Given the description of an element on the screen output the (x, y) to click on. 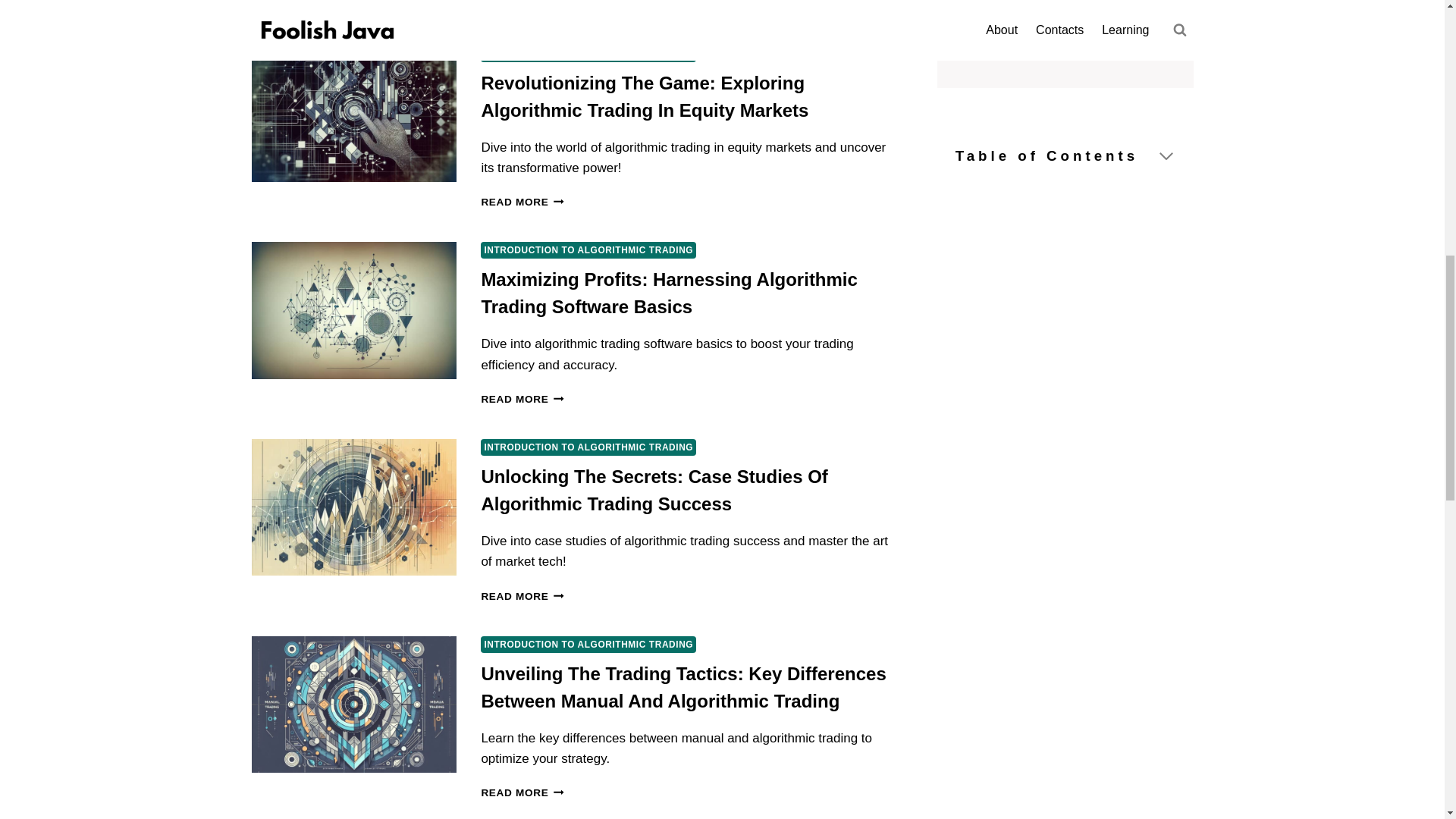
INTRODUCTION TO ALGORITHMIC TRADING (587, 53)
INTRODUCTION TO ALGORITHMIC TRADING (587, 446)
INTRODUCTION TO ALGORITHMIC TRADING (587, 249)
INTRODUCTION TO ALGORITHMIC TRADING (587, 644)
